Given the description of an element on the screen output the (x, y) to click on. 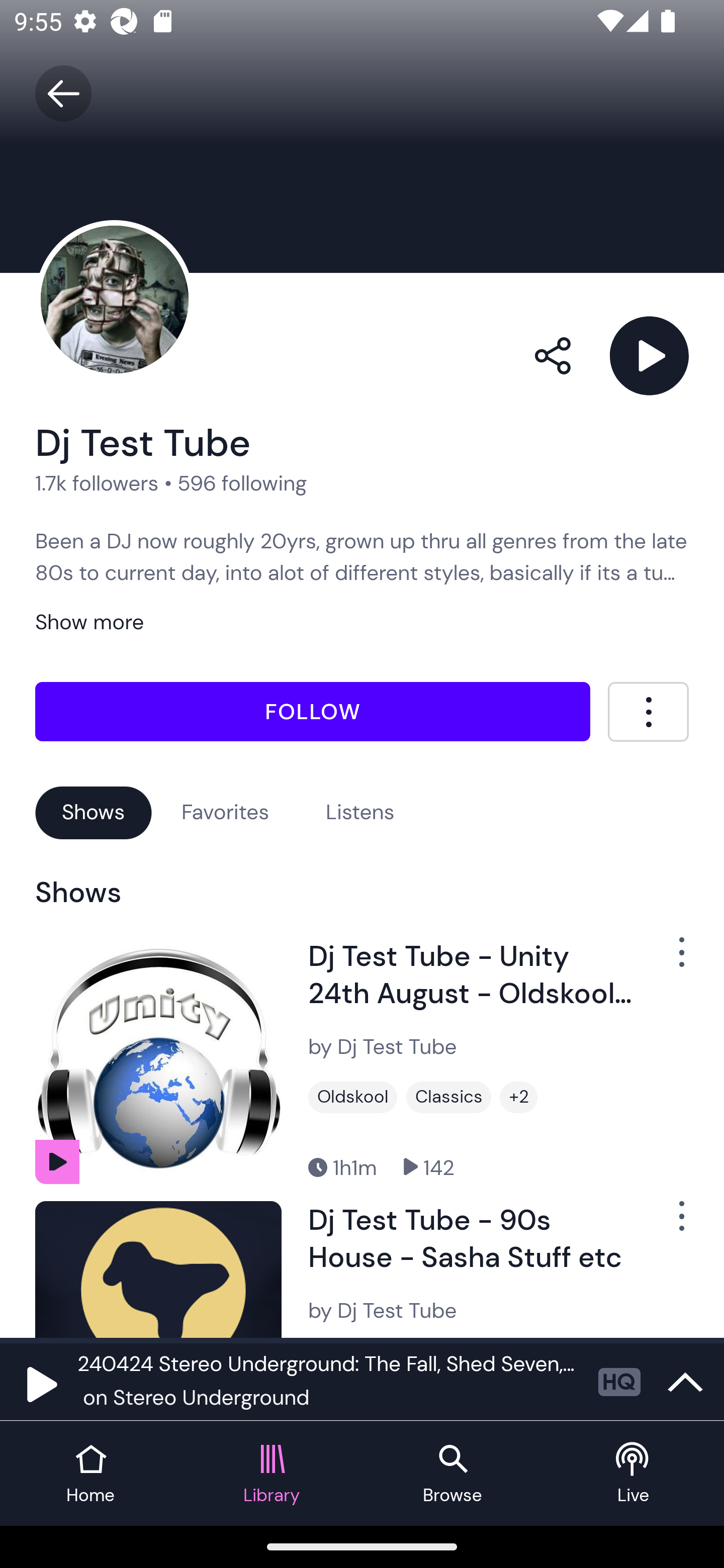
1.7k followers (96, 482)
596 following (241, 482)
Follow FOLLOW (312, 711)
More Menu (648, 711)
Shows (93, 811)
Favorites (225, 811)
Listens (359, 811)
Show Options Menu Button (670, 960)
Oldskool (352, 1097)
Classics (448, 1097)
Show Options Menu Button (670, 1223)
Home tab Home (90, 1473)
Library tab Library (271, 1473)
Browse tab Browse (452, 1473)
Live tab Live (633, 1473)
